Given the description of an element on the screen output the (x, y) to click on. 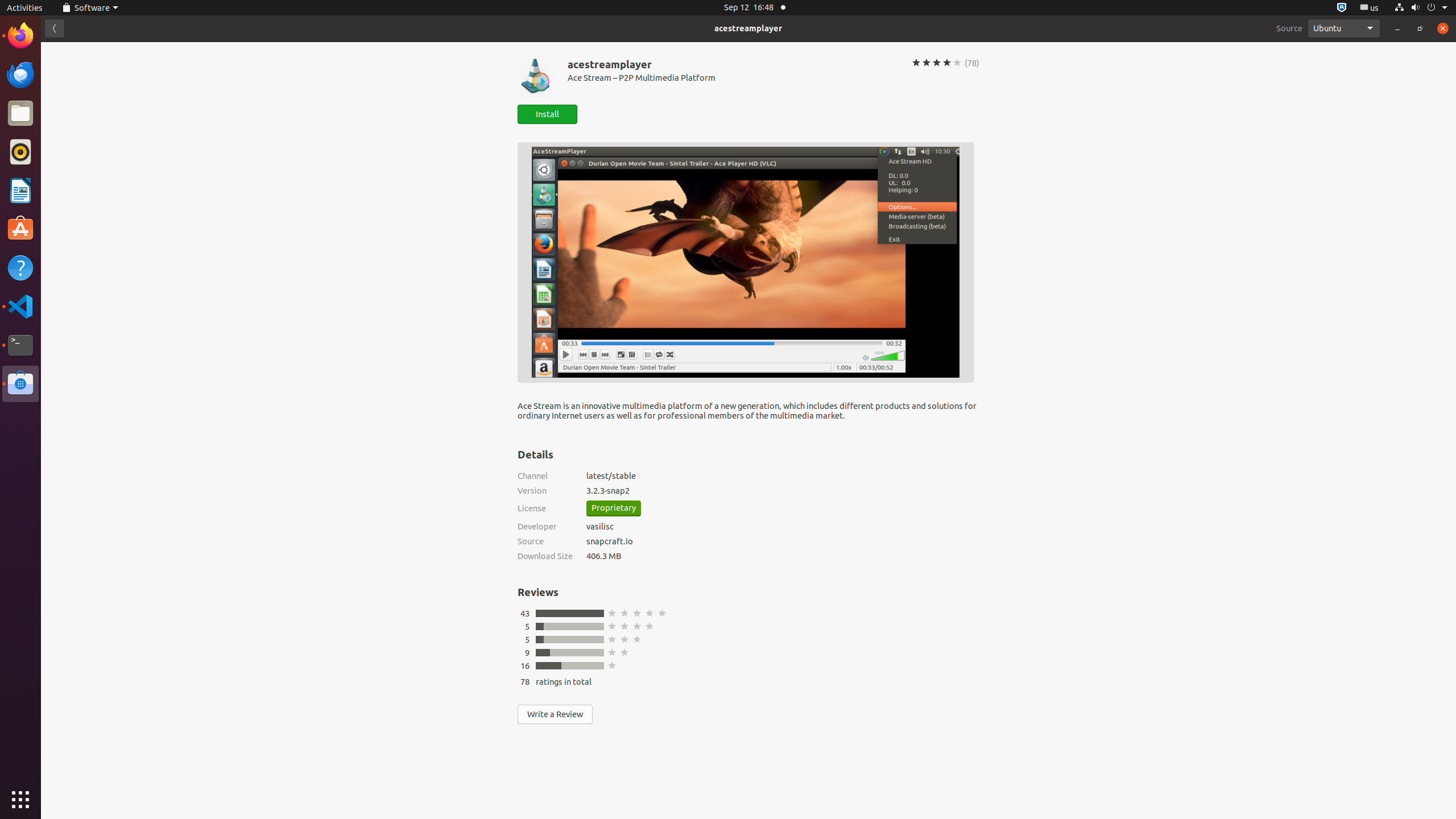
Ace Stream is an innovative multimedia platform of a new generation, which includes different products and solutions for ordinary Internet users as well as for professional members of the multimedia market.
 Element type: label (748, 414)
9 Element type: label (526, 652)
latest/stable Element type: label (782, 475)
Download Size Element type: label (544, 555)
